Given the description of an element on the screen output the (x, y) to click on. 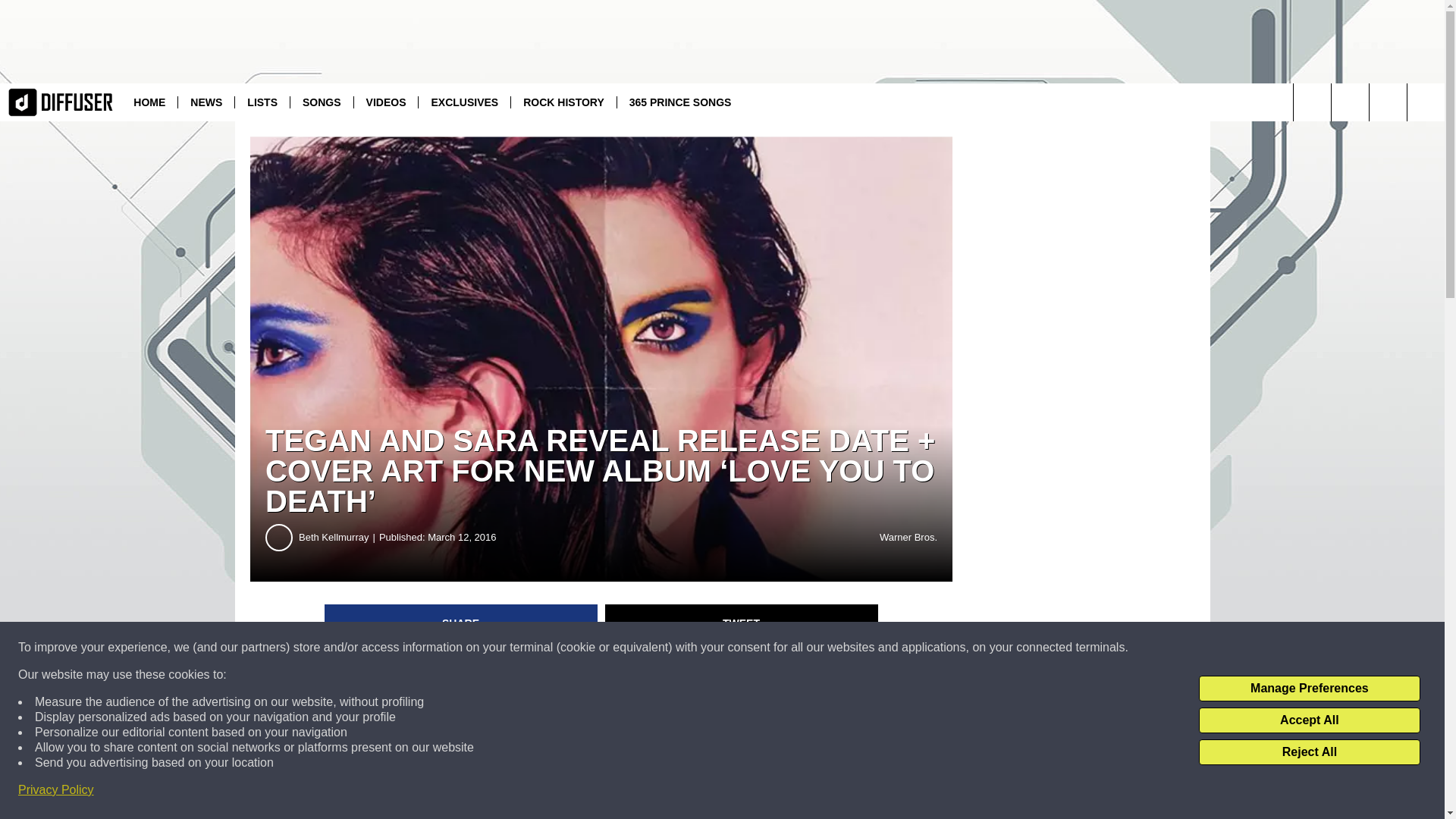
ROCK HISTORY (563, 102)
LISTS (261, 102)
SHARE (460, 623)
365 PRINCE SONGS (679, 102)
TWEET (741, 623)
Tegan and Sara (371, 676)
TWEET (741, 623)
Sia (687, 762)
SONGS (321, 102)
HOME (148, 102)
Visit us on Facebook (1388, 102)
Manage Preferences (1309, 688)
Adele (720, 762)
NEWS (205, 102)
Visit us on Youtube (1350, 102)
